Given the description of an element on the screen output the (x, y) to click on. 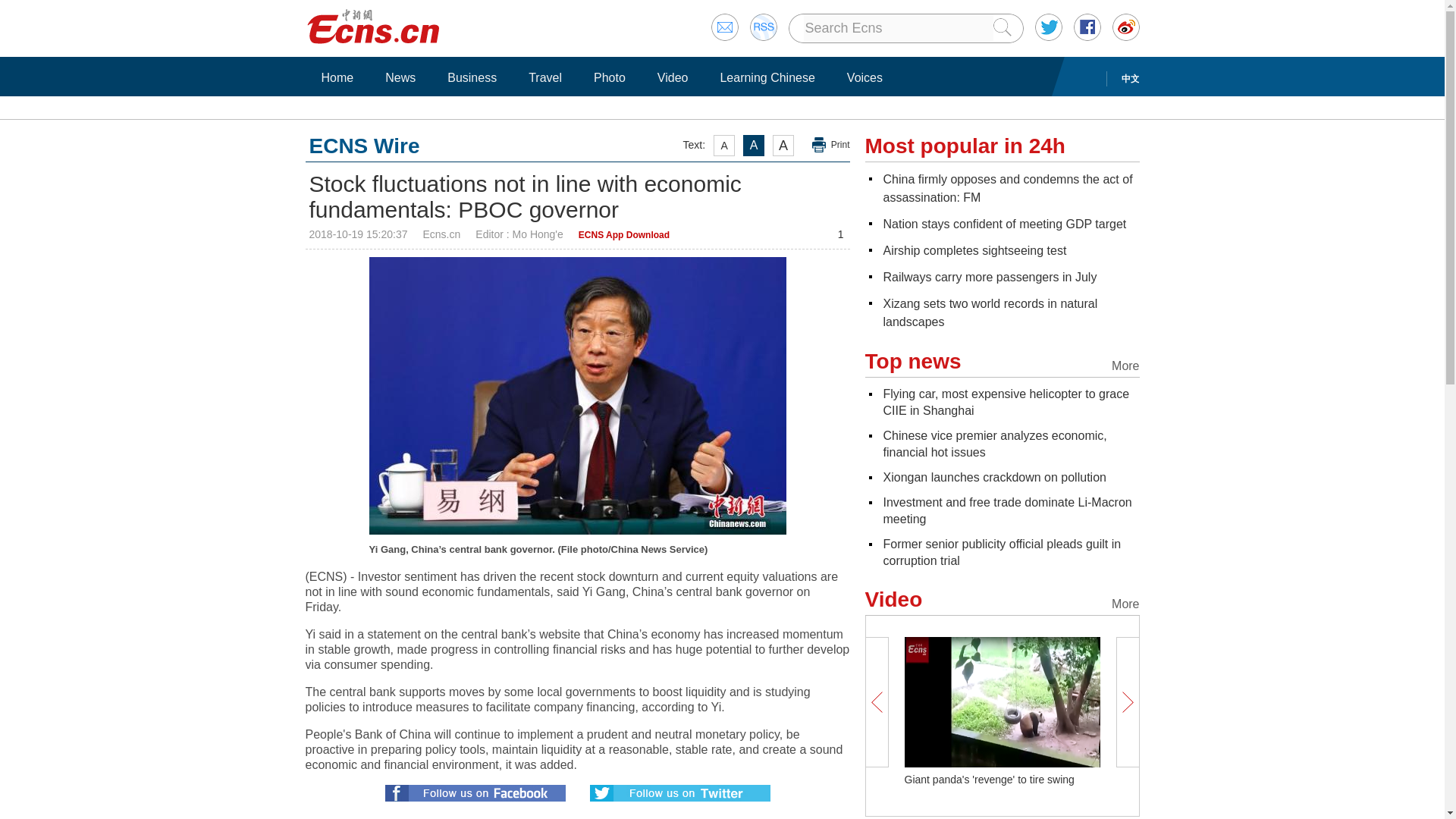
Business (472, 77)
Nation (1003, 223)
Print (831, 144)
Video (673, 77)
Photo (609, 77)
Xizang (989, 312)
Travel (544, 77)
News (400, 77)
Voices (864, 77)
Home (337, 77)
Search Ecns (897, 27)
Airship (973, 250)
China (1007, 187)
ECNS App Download (623, 235)
Railways (989, 277)
